Given the description of an element on the screen output the (x, y) to click on. 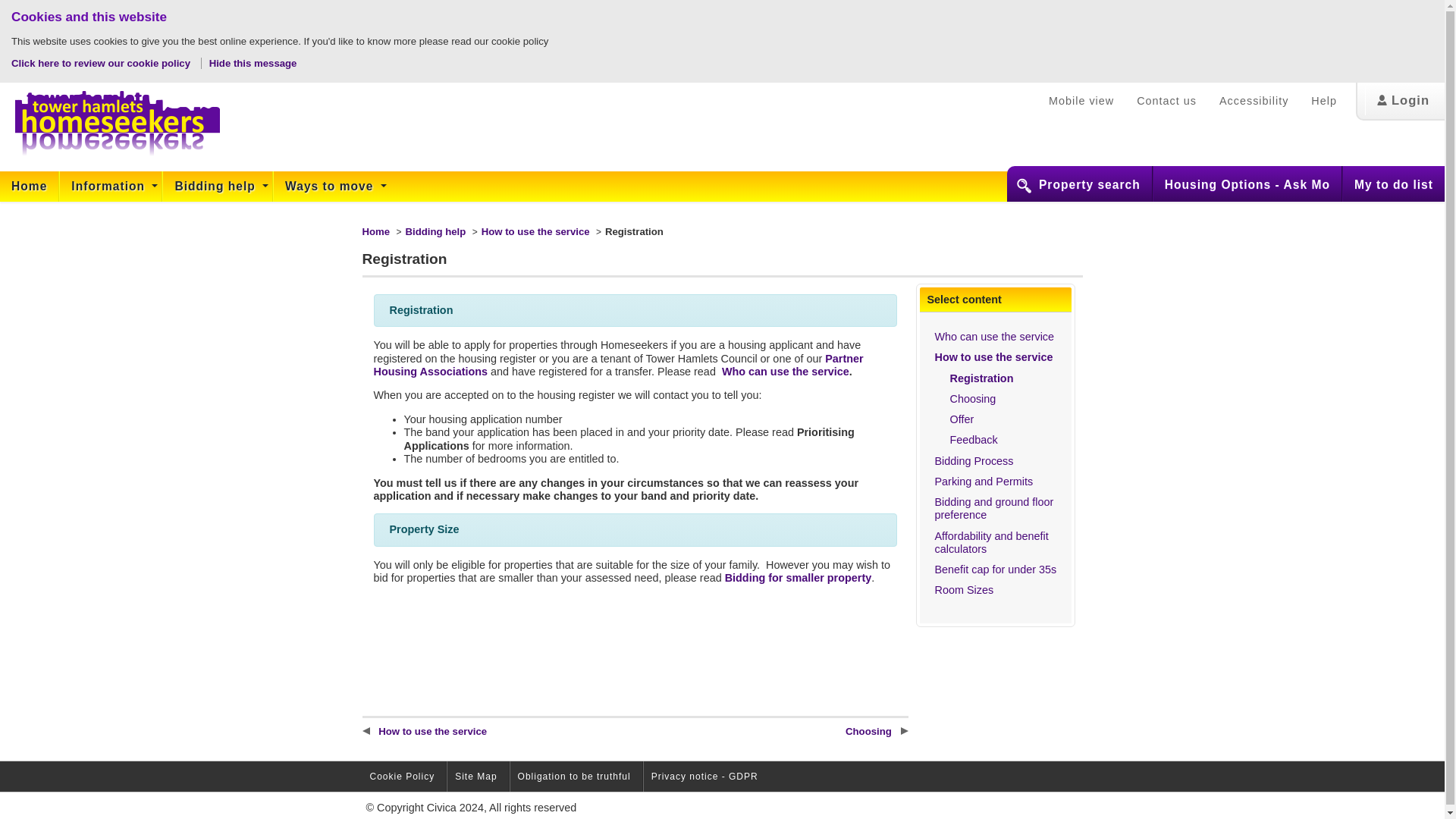
Accessibility (1254, 100)
Show the Ways to move menu (331, 186)
Housing Options - Ask Mo (1246, 185)
Information (110, 186)
Show the Information menu (110, 186)
Hide this message (253, 62)
Mobile view (1080, 100)
Login (1403, 100)
Help (1324, 100)
Contact us (1166, 100)
